Given the description of an element on the screen output the (x, y) to click on. 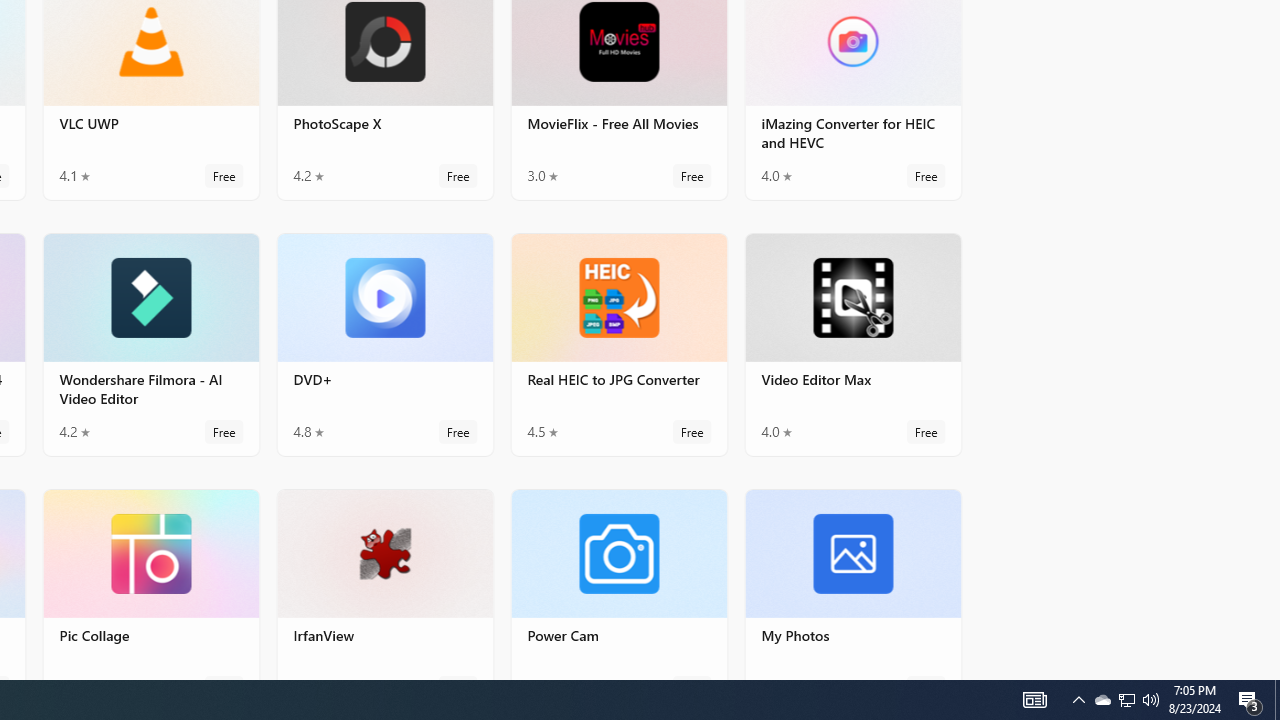
DVD+. Average rating of 4.8 out of five stars. Free   (385, 343)
Pic Collage. Average rating of 4.8 out of five stars. Free   (150, 583)
